Given the description of an element on the screen output the (x, y) to click on. 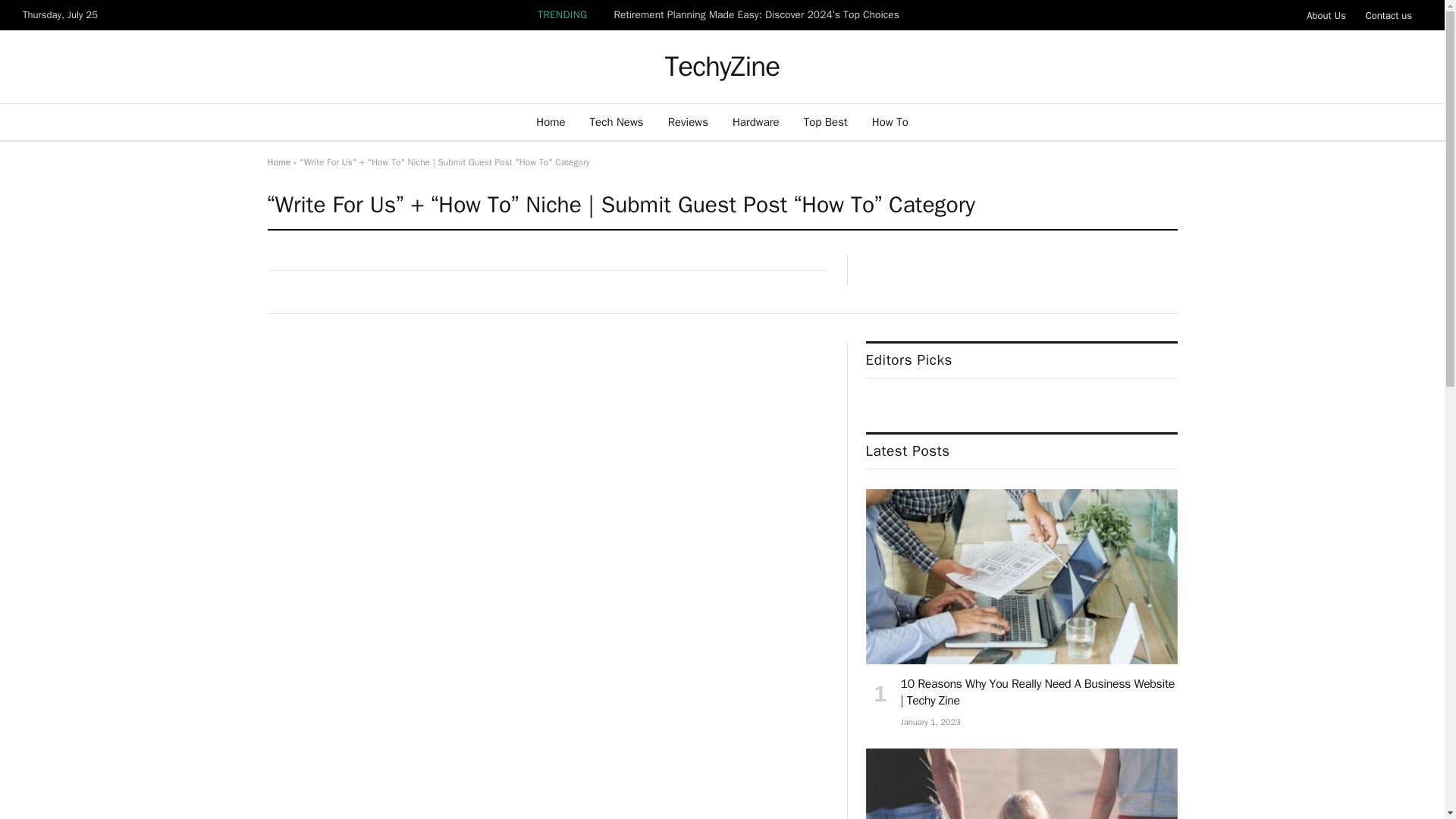
Reviews (688, 122)
TechyZine (721, 66)
Hardware (756, 122)
Home (550, 122)
Contact us (1388, 15)
Home (277, 162)
About Us (1326, 15)
Tech News (617, 122)
How To (890, 122)
TechyZine (721, 66)
Top Best (826, 122)
